Given the description of an element on the screen output the (x, y) to click on. 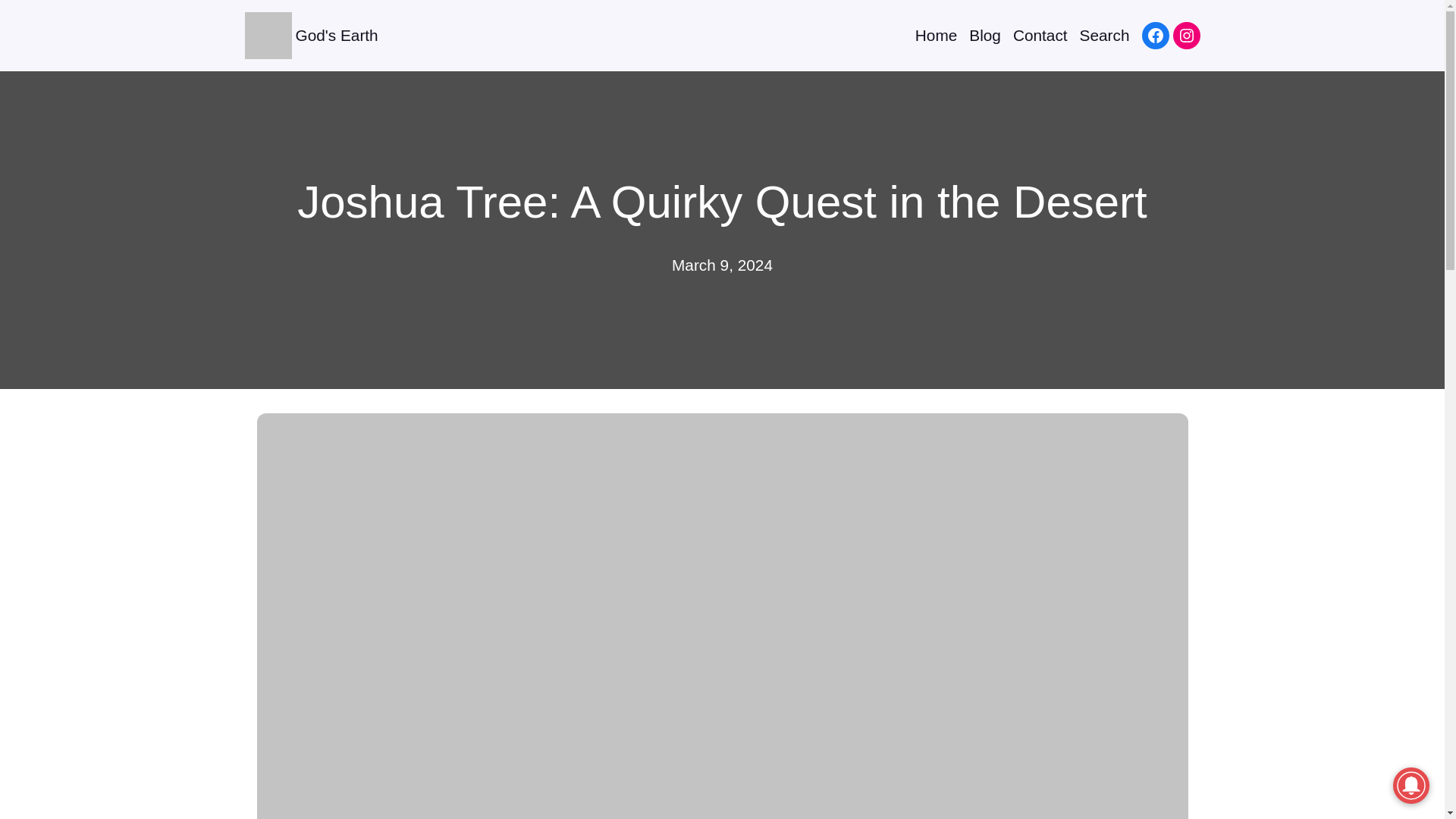
Blog (985, 35)
Home (935, 35)
God's Earth (336, 35)
Instagram (1185, 35)
Facebook (1155, 35)
Search (1104, 35)
Contact (1040, 35)
